Given the description of an element on the screen output the (x, y) to click on. 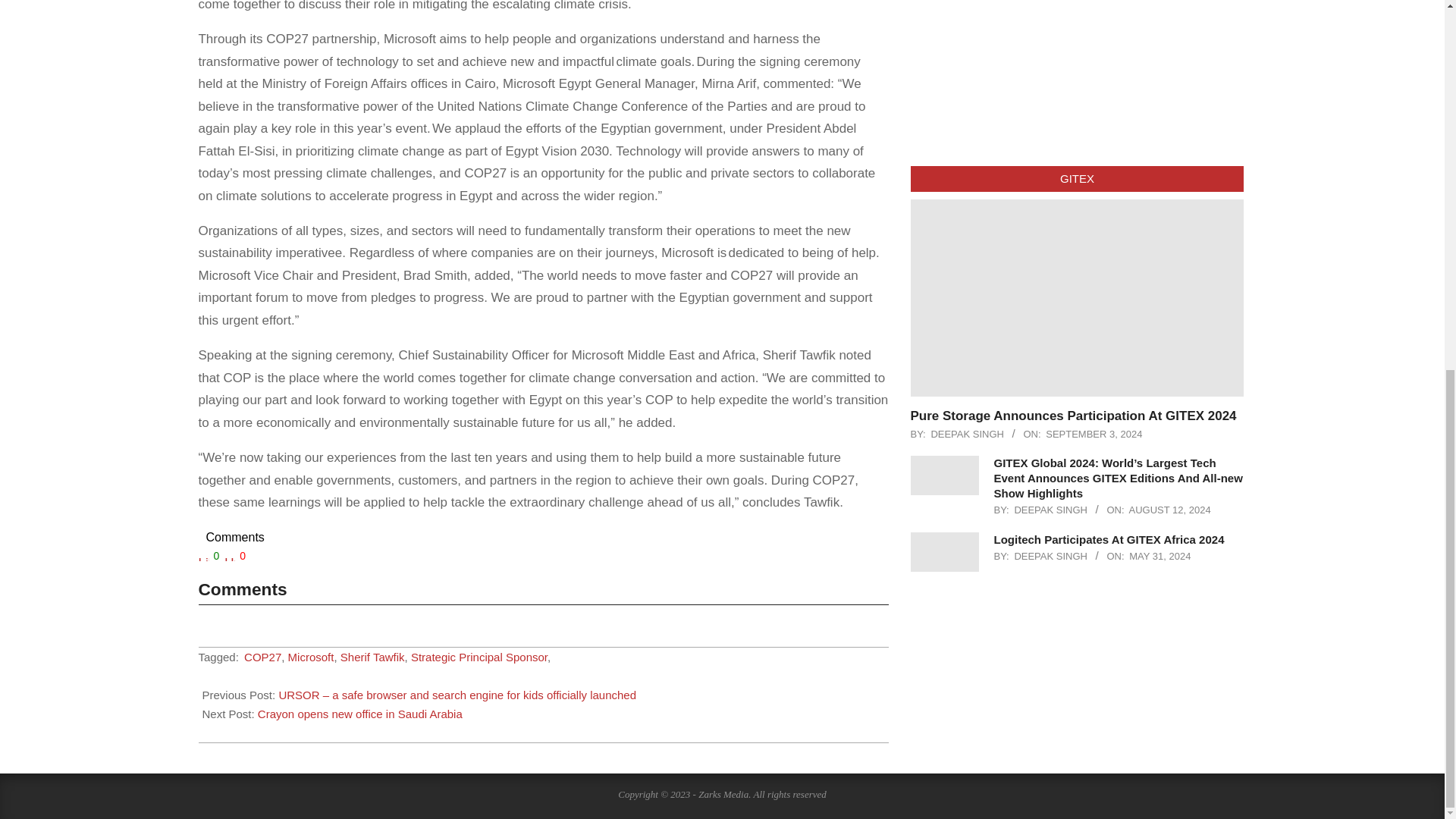
Posts by Deepak Singh (1050, 509)
Posts by Deepak Singh (967, 433)
Tuesday, September 3, 2024, 11:27 am (1093, 433)
